Given the description of an element on the screen output the (x, y) to click on. 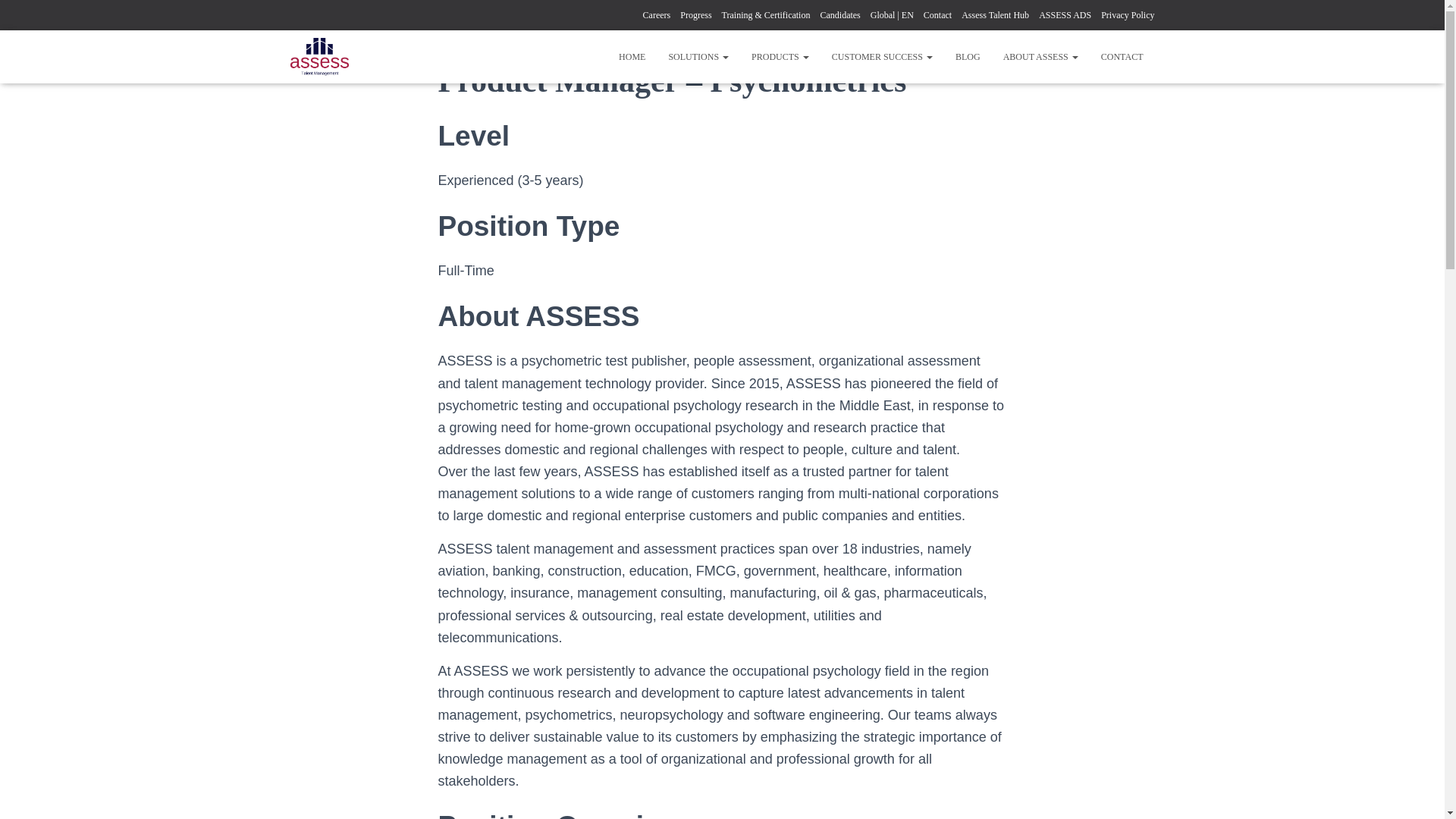
Candidates (839, 15)
Assess Talent Hub (994, 15)
Contact (937, 15)
SOLUTIONS (697, 56)
Solutions (697, 56)
Progress (695, 15)
Candidates (839, 15)
CUSTOMER SUCCESS (882, 56)
ASSESS ADS (1064, 15)
HOME (631, 56)
